Given the description of an element on the screen output the (x, y) to click on. 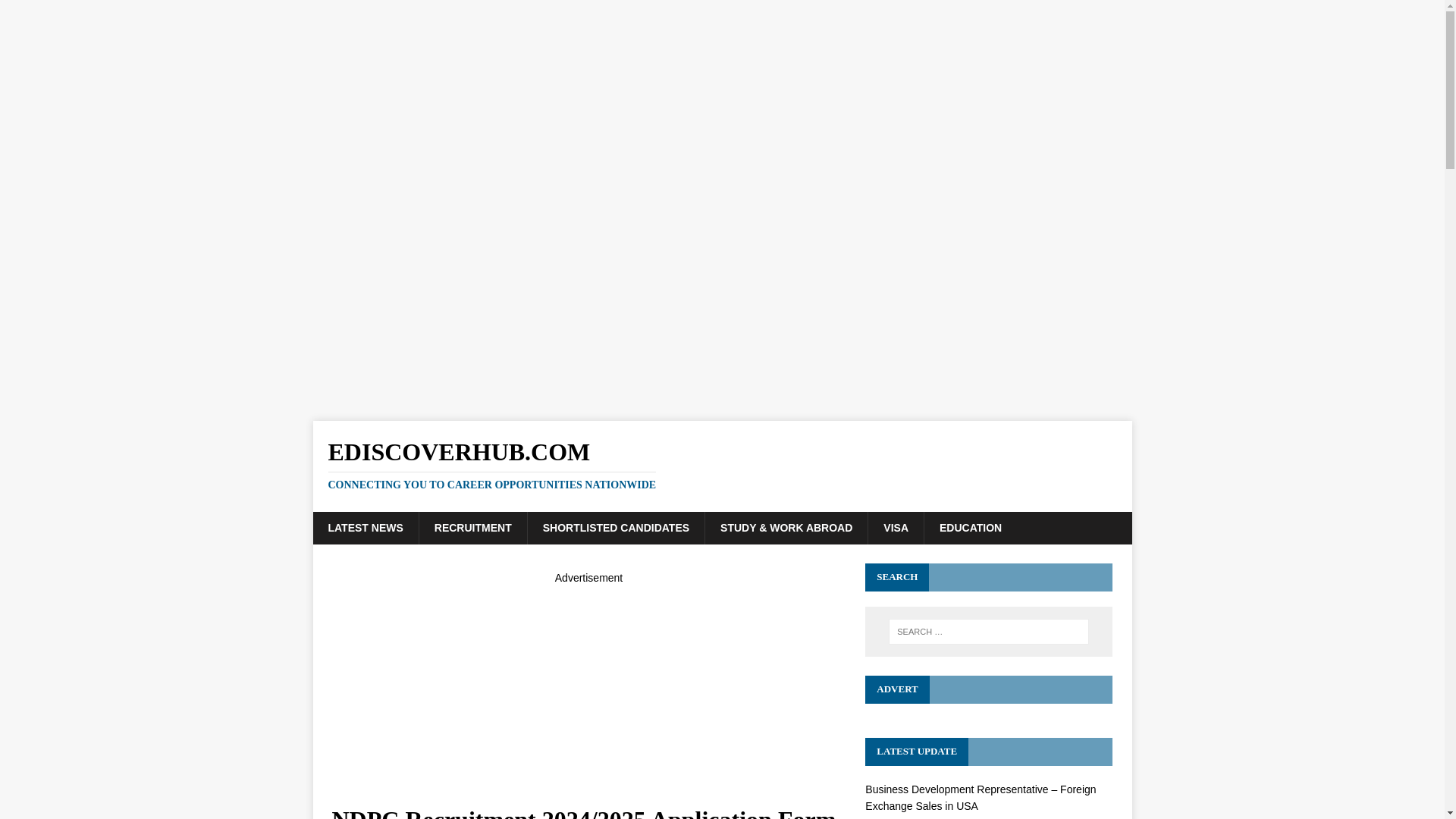
Search (56, 11)
Ediscoverhub.com (721, 464)
Advertisement (588, 692)
VISA (895, 527)
LATEST NEWS (365, 527)
EDUCATION (969, 527)
SHORTLISTED CANDIDATES (615, 527)
RECRUITMENT (473, 527)
